Given the description of an element on the screen output the (x, y) to click on. 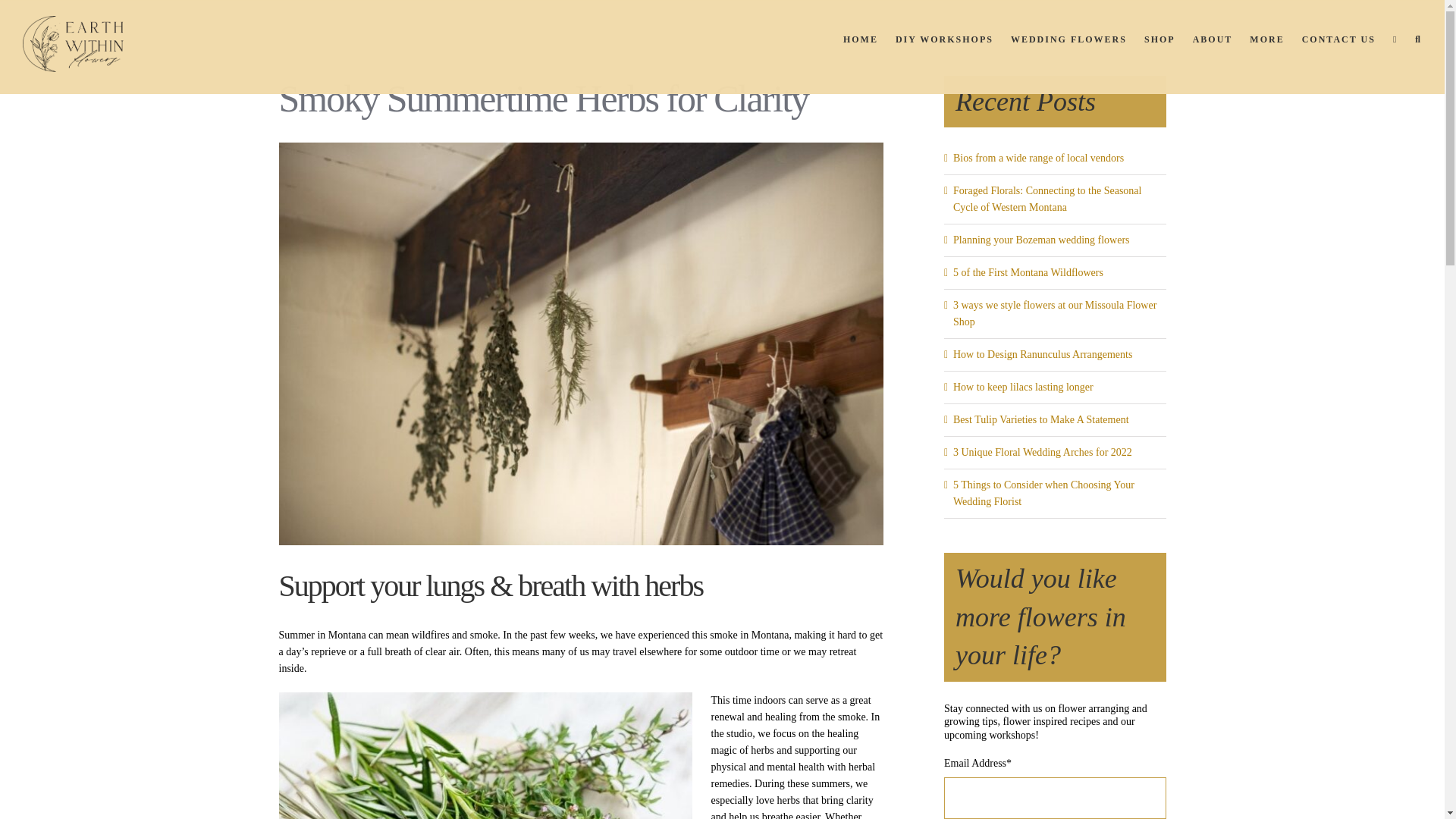
CONTACT US (1338, 38)
DIY WORKSHOPS (943, 38)
Log In (1205, 152)
WEDDING FLOWERS (1068, 38)
